Given the description of an element on the screen output the (x, y) to click on. 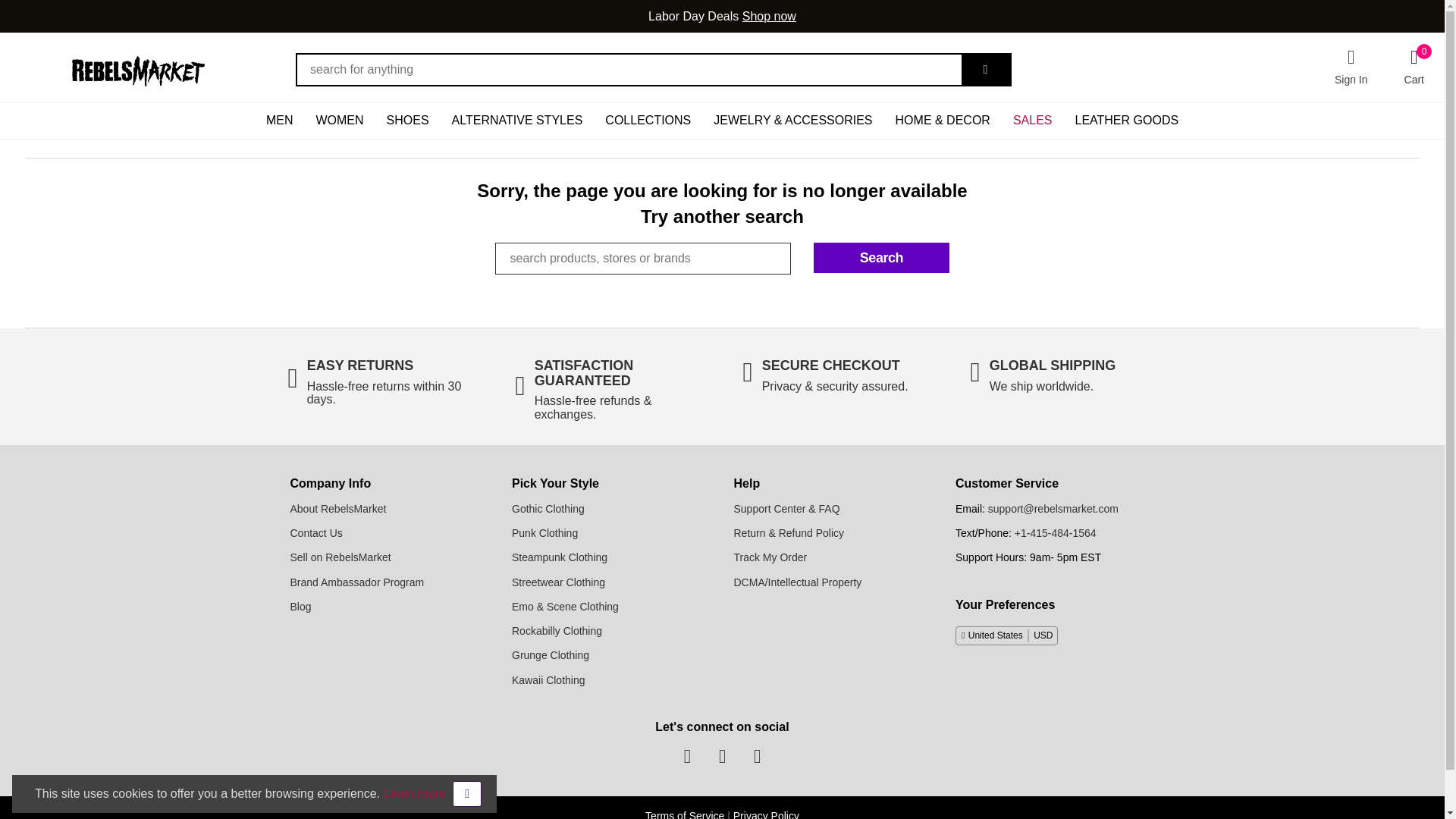
WOMEN (338, 119)
Contact Us (315, 532)
Sign In (1351, 66)
About Us  (337, 508)
MEN (280, 119)
